Given the description of an element on the screen output the (x, y) to click on. 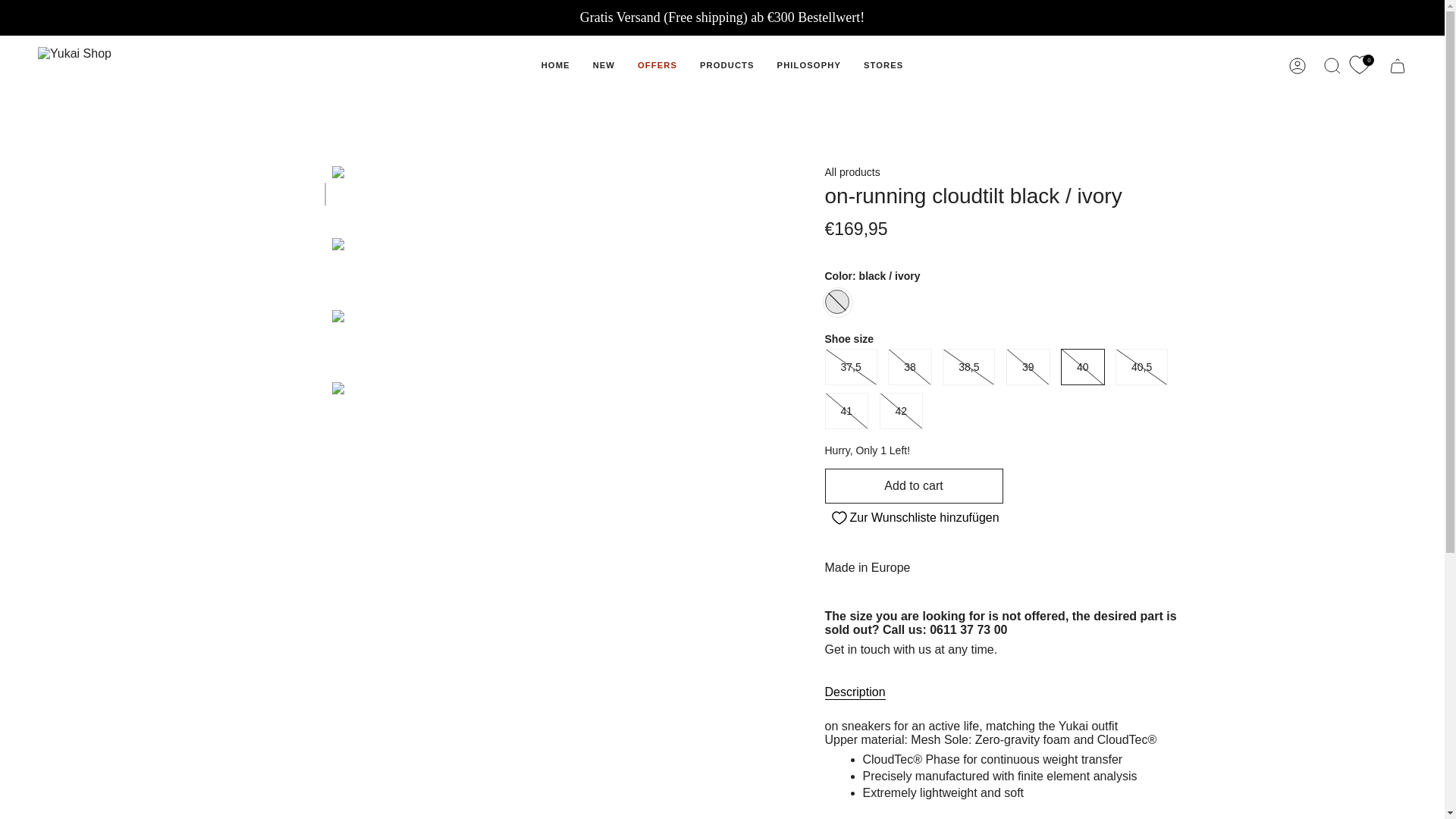
OFFERS (657, 65)
PRODUCTS (726, 65)
